Given the description of an element on the screen output the (x, y) to click on. 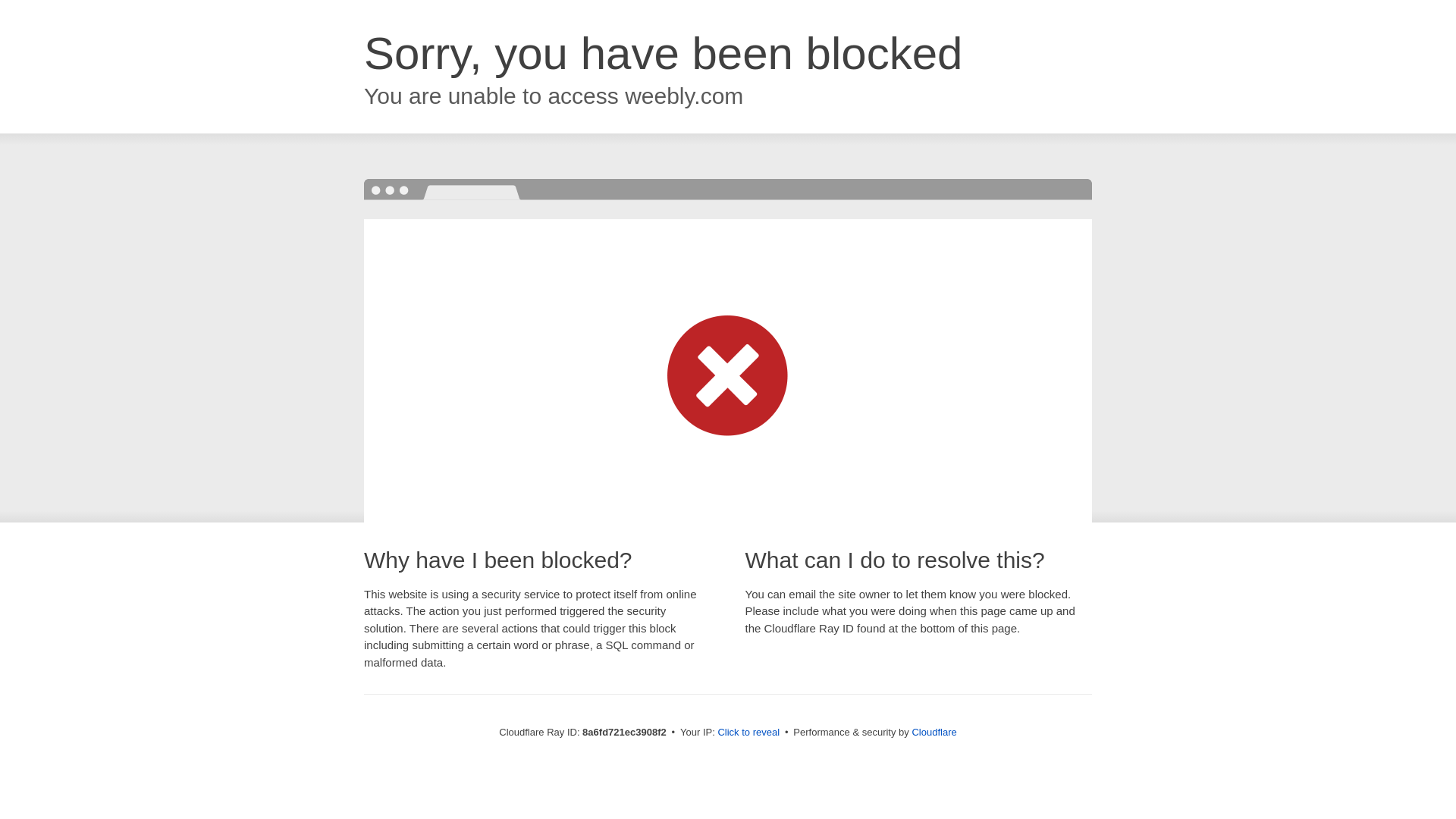
Click to reveal (747, 732)
Cloudflare (933, 731)
